Given the description of an element on the screen output the (x, y) to click on. 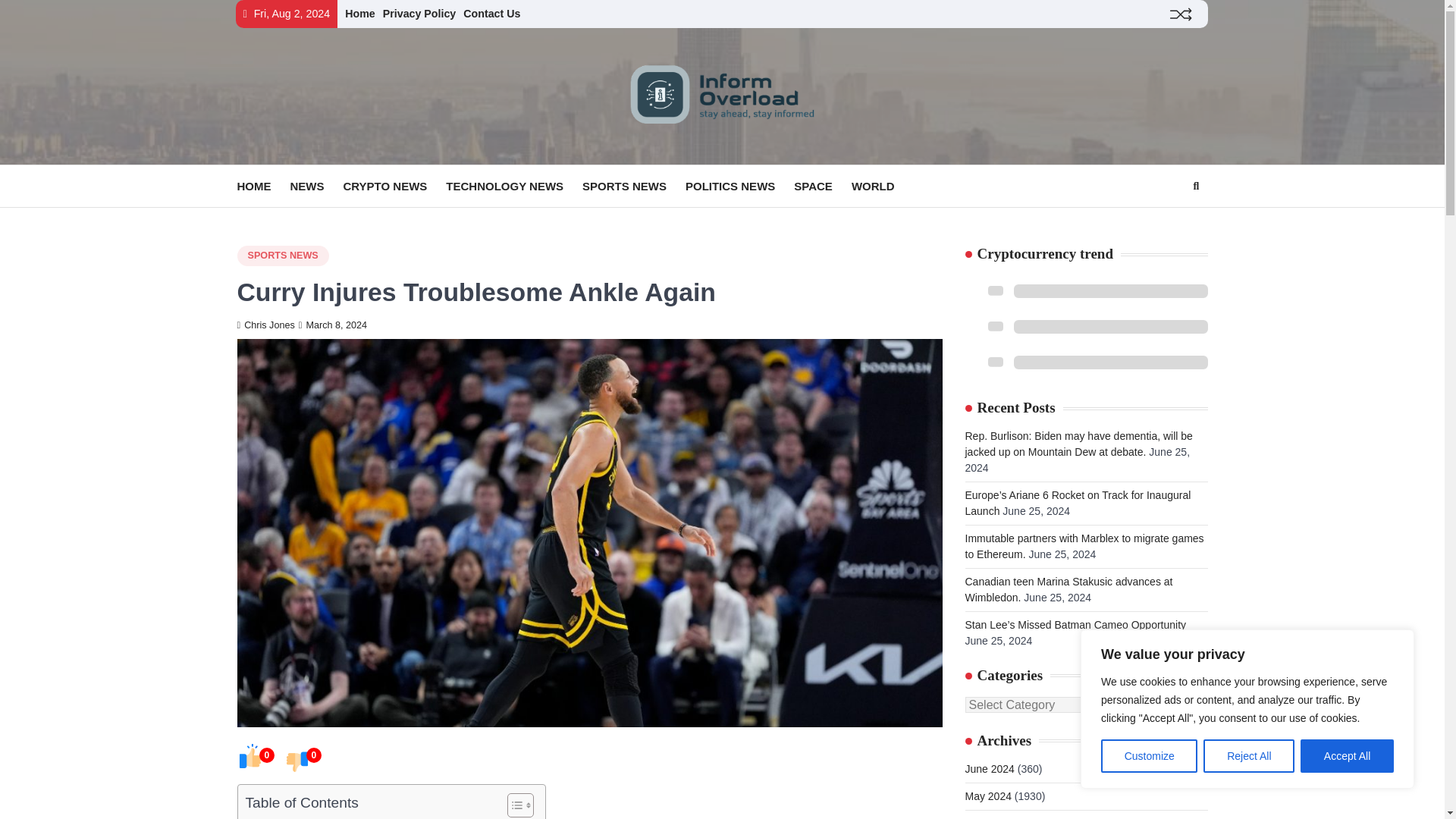
Chris Jones (264, 325)
Privacy Policy (419, 13)
Accept All (1346, 756)
SPORTS NEWS (282, 255)
Home (360, 13)
POLITICS NEWS (739, 187)
Loading... (1085, 289)
CRYPTO NEWS (393, 187)
SPORTS NEWS (633, 187)
